Given the description of an element on the screen output the (x, y) to click on. 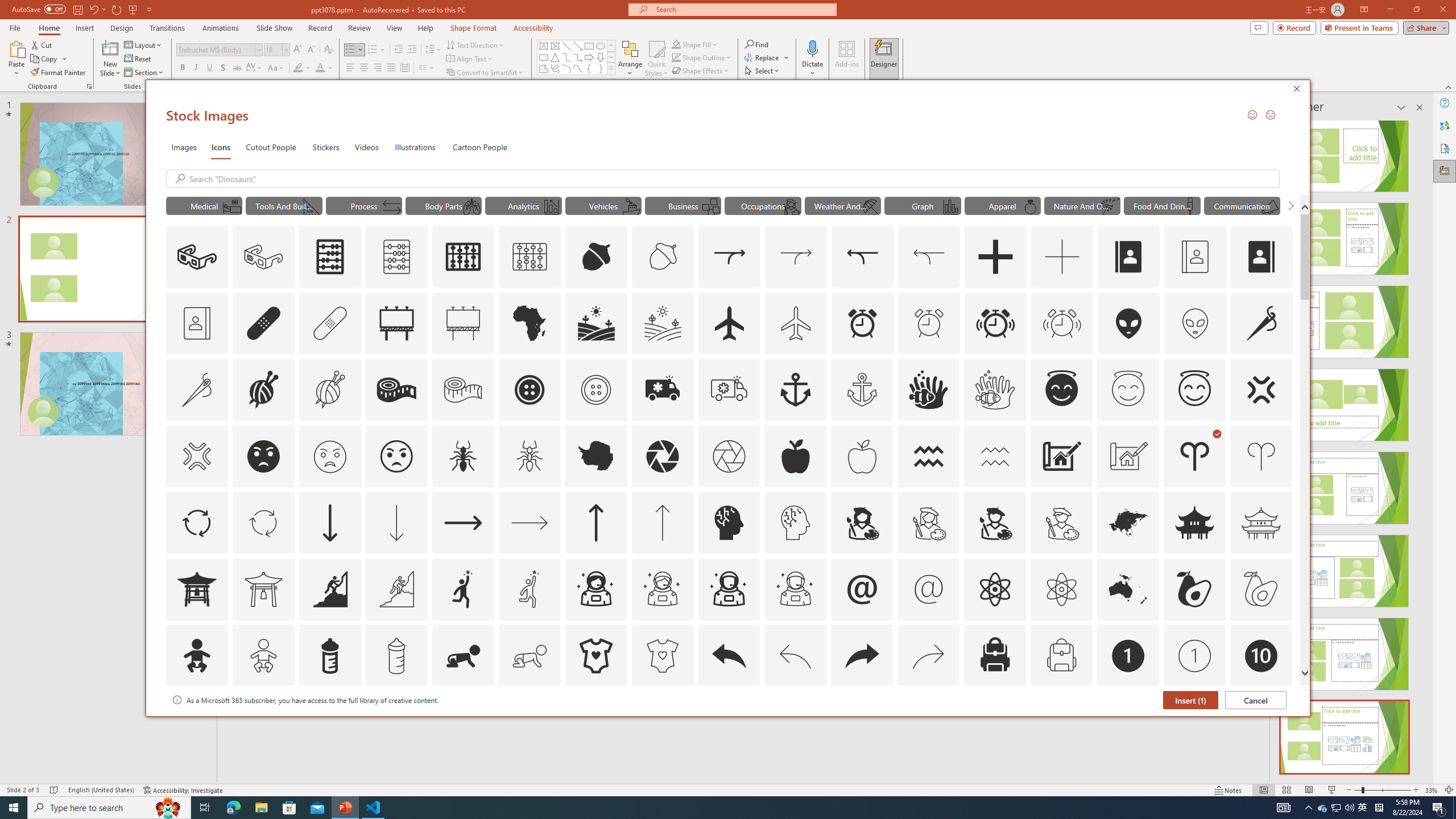
Icons (220, 146)
AutomationID: Icons_Apple_M (861, 455)
AutomationID: Icons_Ant_M (529, 455)
AutomationID: Icons_Badge6 (1322, 807)
AutomationID: Icons_Antarctica (795, 721)
